Given the description of an element on the screen output the (x, y) to click on. 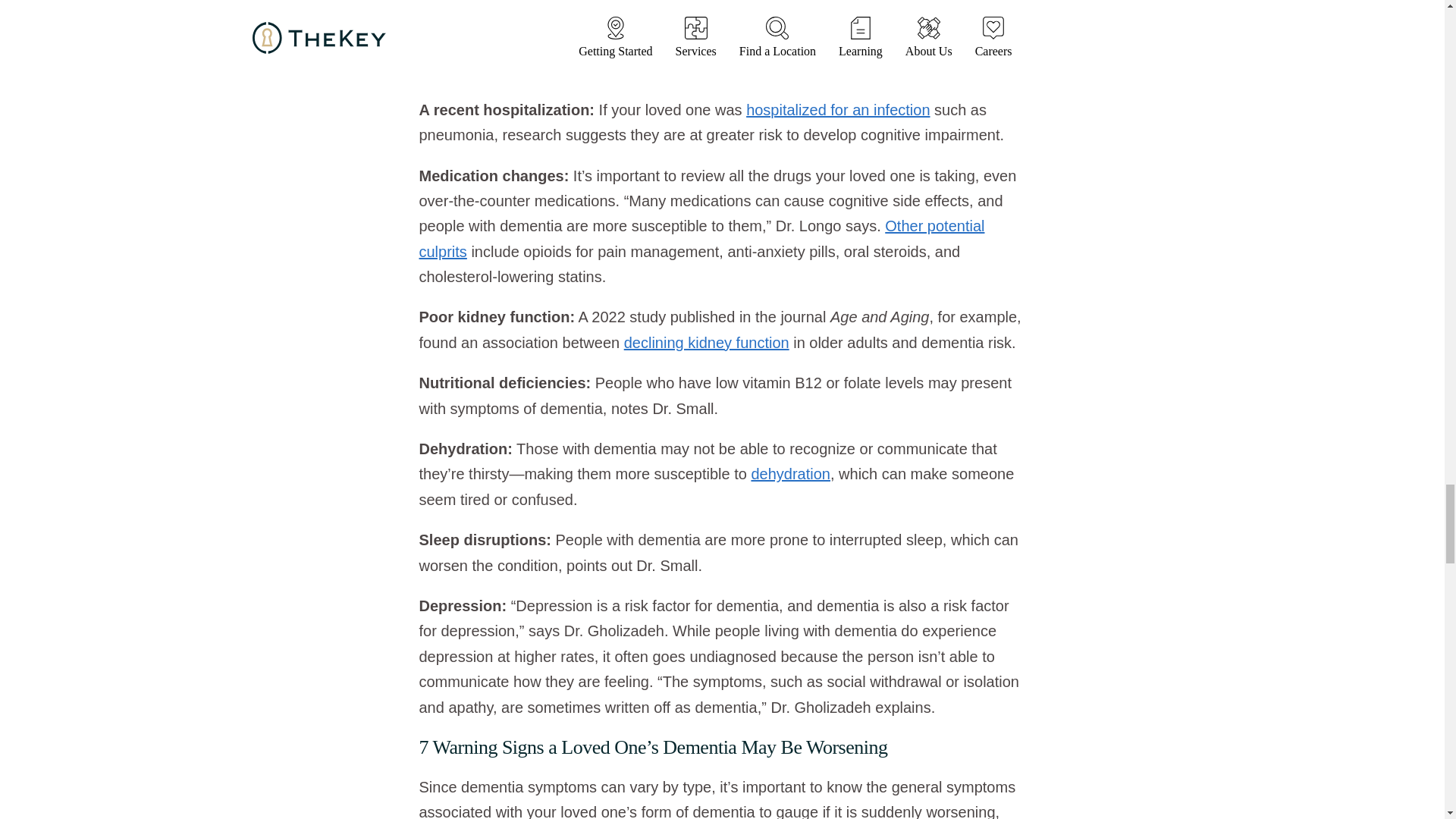
dehydration (790, 474)
Other potential culprits (701, 238)
hospitalized for an infection (837, 109)
declining kidney function (706, 342)
